Given the description of an element on the screen output the (x, y) to click on. 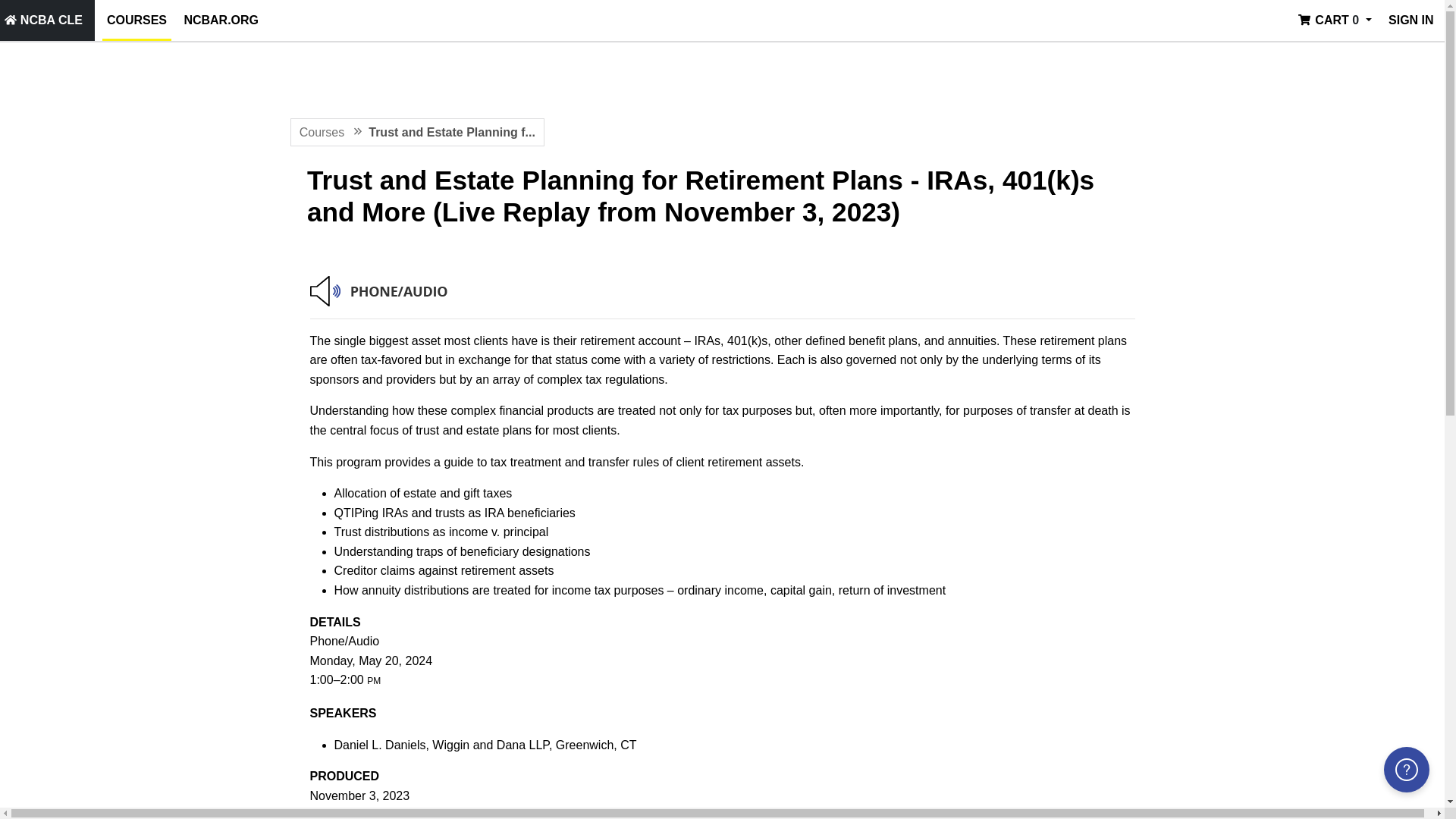
COURSES (136, 20)
Courses (322, 132)
SIGN IN (1411, 20)
CART 0 (1335, 20)
Courses (136, 20)
NCBA CLE (43, 20)
NCBAR.ORG (221, 20)
NCBA CLE (43, 20)
